Given the description of an element on the screen output the (x, y) to click on. 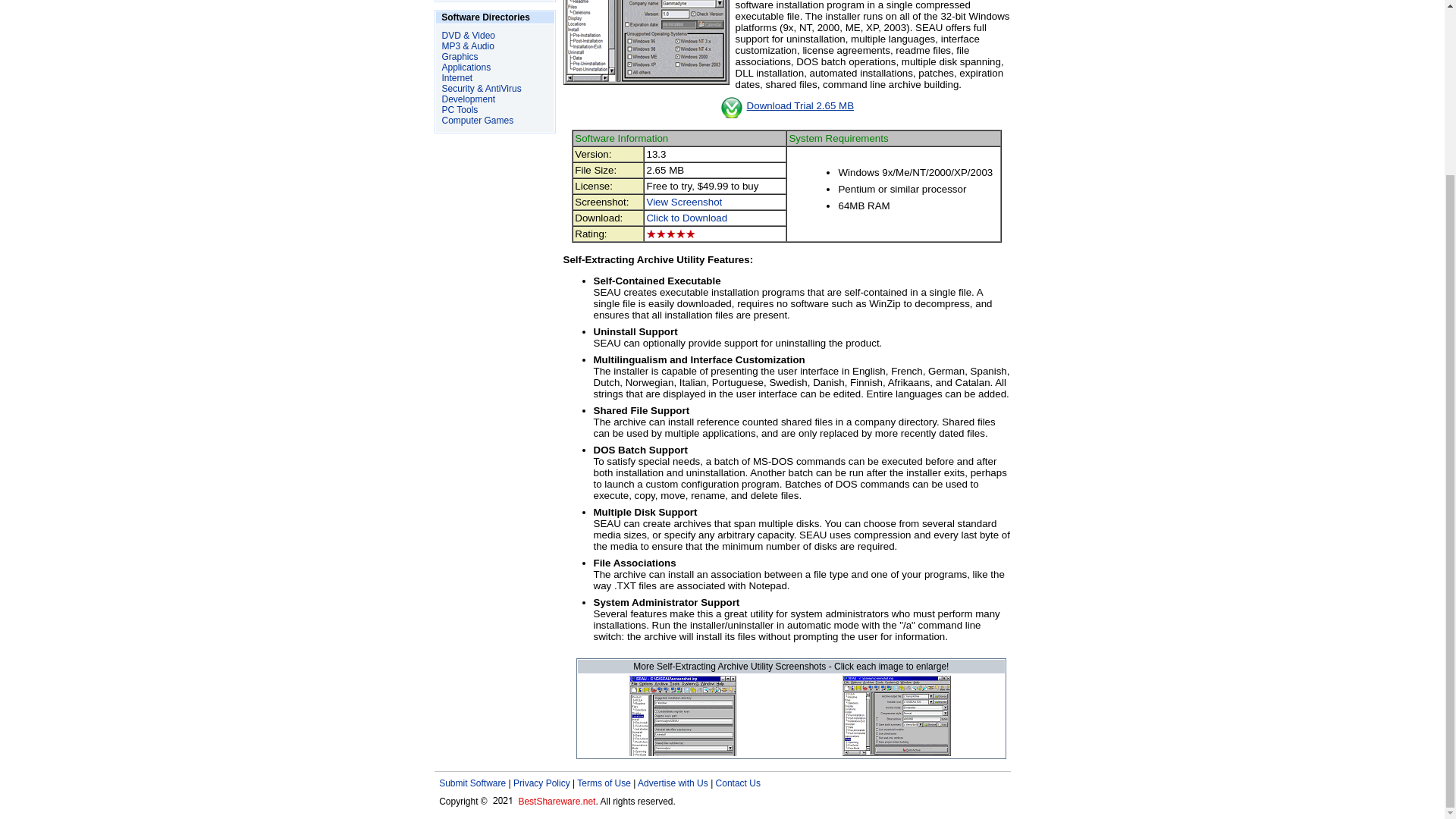
Click to Download (686, 217)
Internet (456, 77)
Privacy Policy (541, 783)
Contact Us (738, 783)
Applications (465, 67)
Download Trial 2.65 MB (800, 105)
Computer Games (477, 120)
Development (468, 99)
Graphics (459, 56)
PC Tools (459, 109)
